Given the description of an element on the screen output the (x, y) to click on. 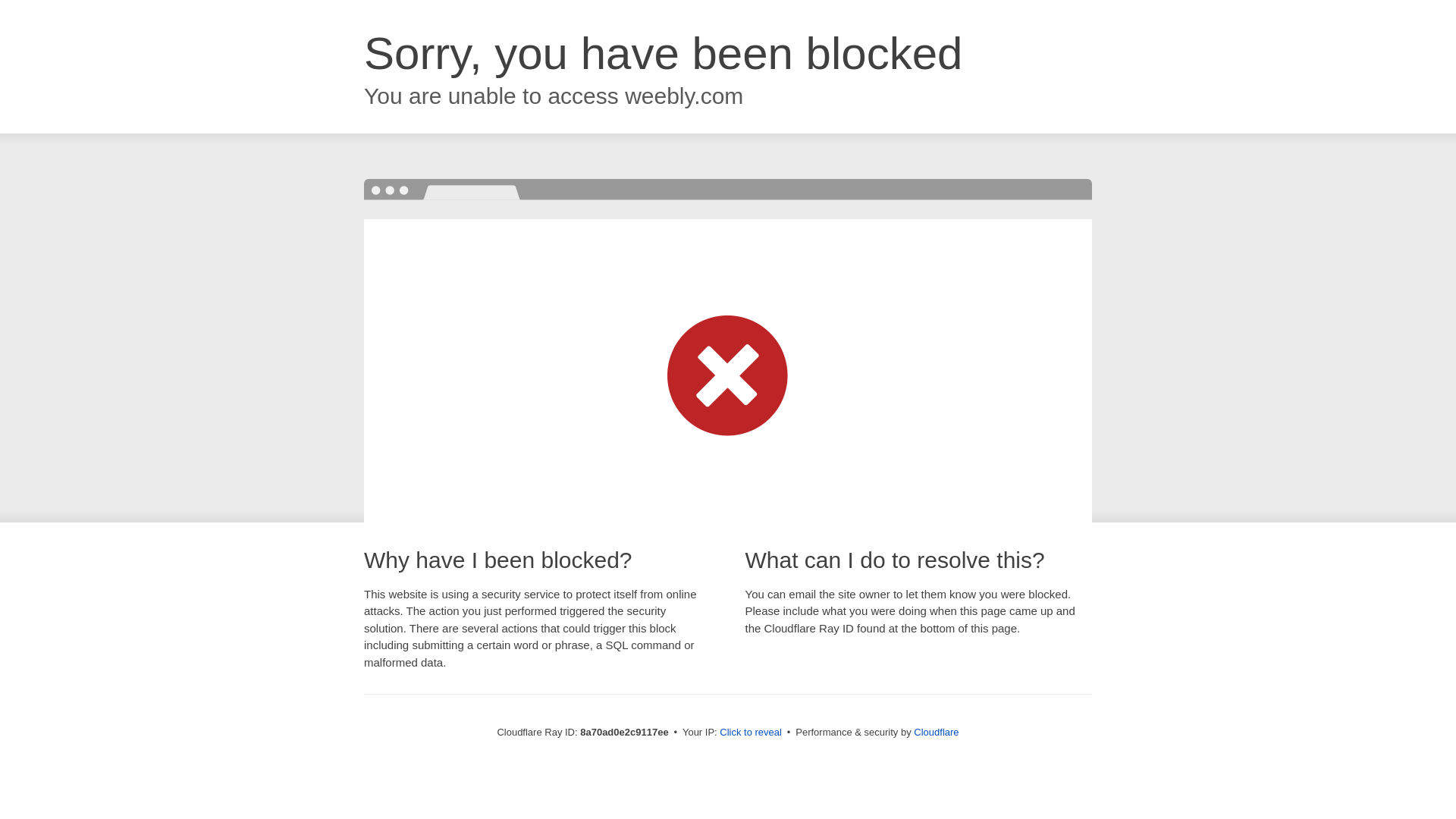
Cloudflare (936, 731)
Click to reveal (750, 732)
